Given the description of an element on the screen output the (x, y) to click on. 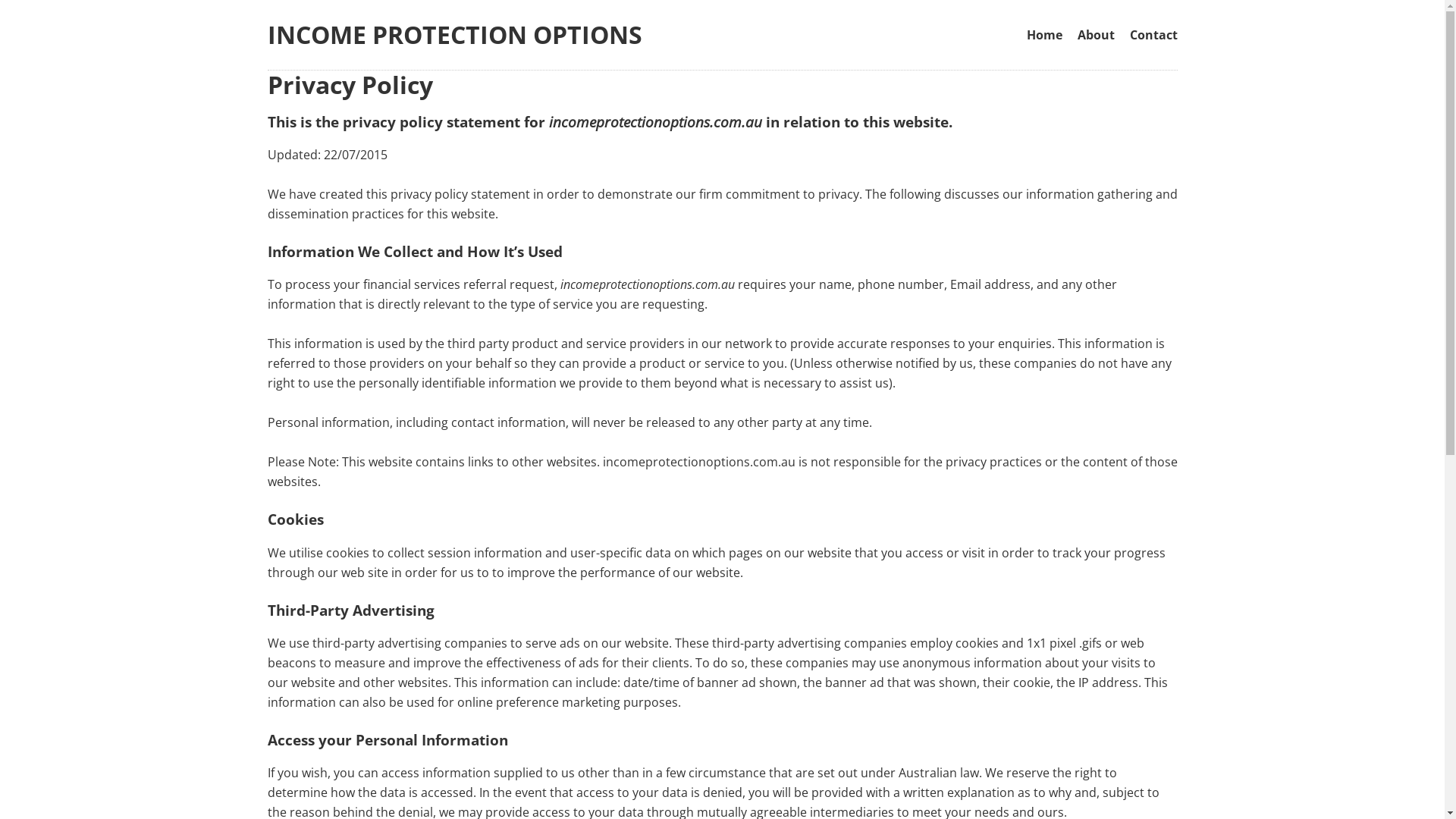
Skip to main content Element type: text (689, 1)
Home Element type: text (1044, 35)
Contact Element type: text (1153, 35)
INCOME PROTECTION OPTIONS Element type: text (453, 34)
About Element type: text (1094, 35)
